Given the description of an element on the screen output the (x, y) to click on. 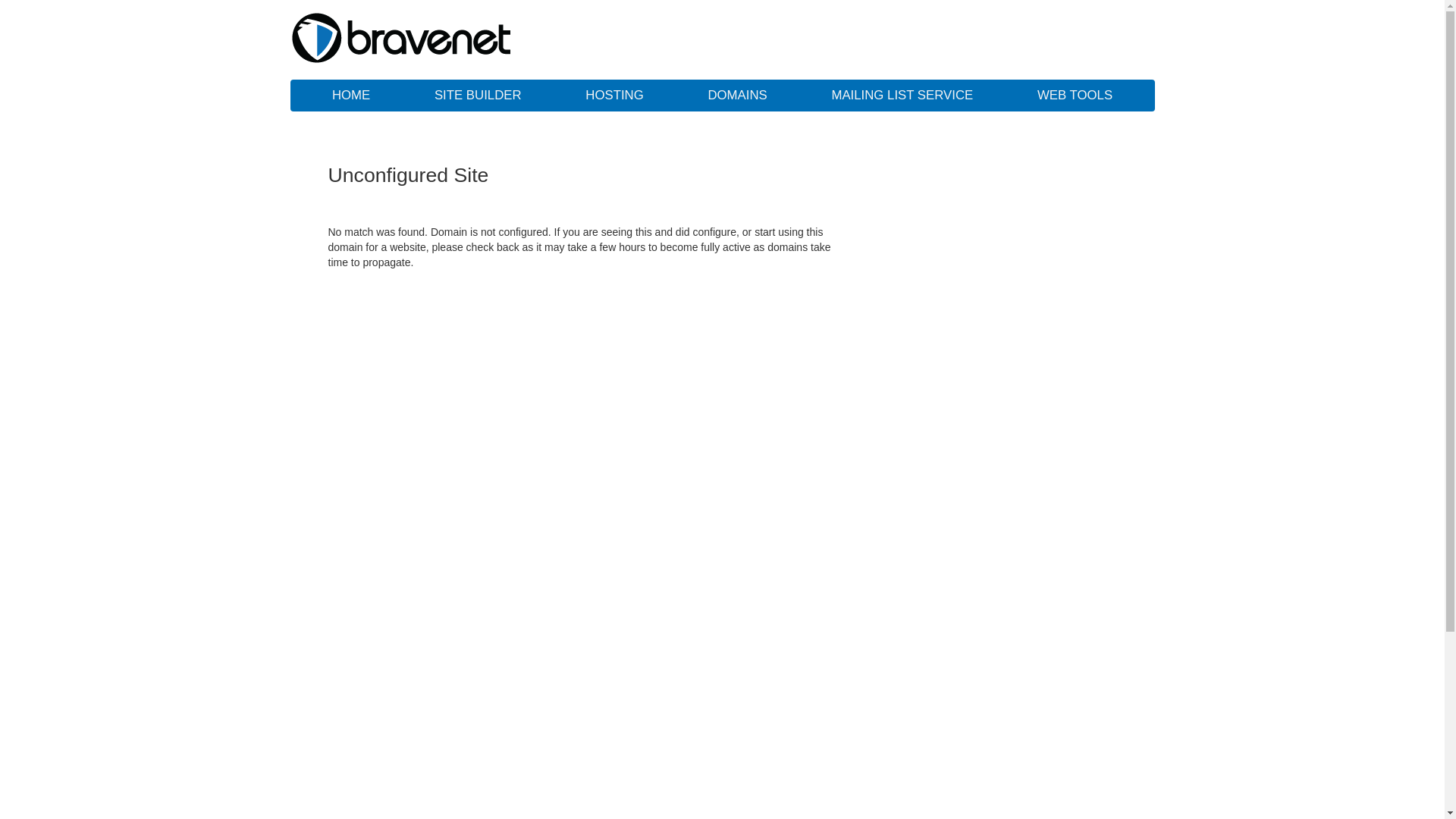
WEB TOOLS Element type: text (1074, 95)
HOSTING Element type: text (614, 95)
HOME Element type: text (350, 95)
SITE BUILDER Element type: text (478, 95)
MAILING LIST SERVICE Element type: text (901, 95)
DOMAINS Element type: text (737, 95)
